Given the description of an element on the screen output the (x, y) to click on. 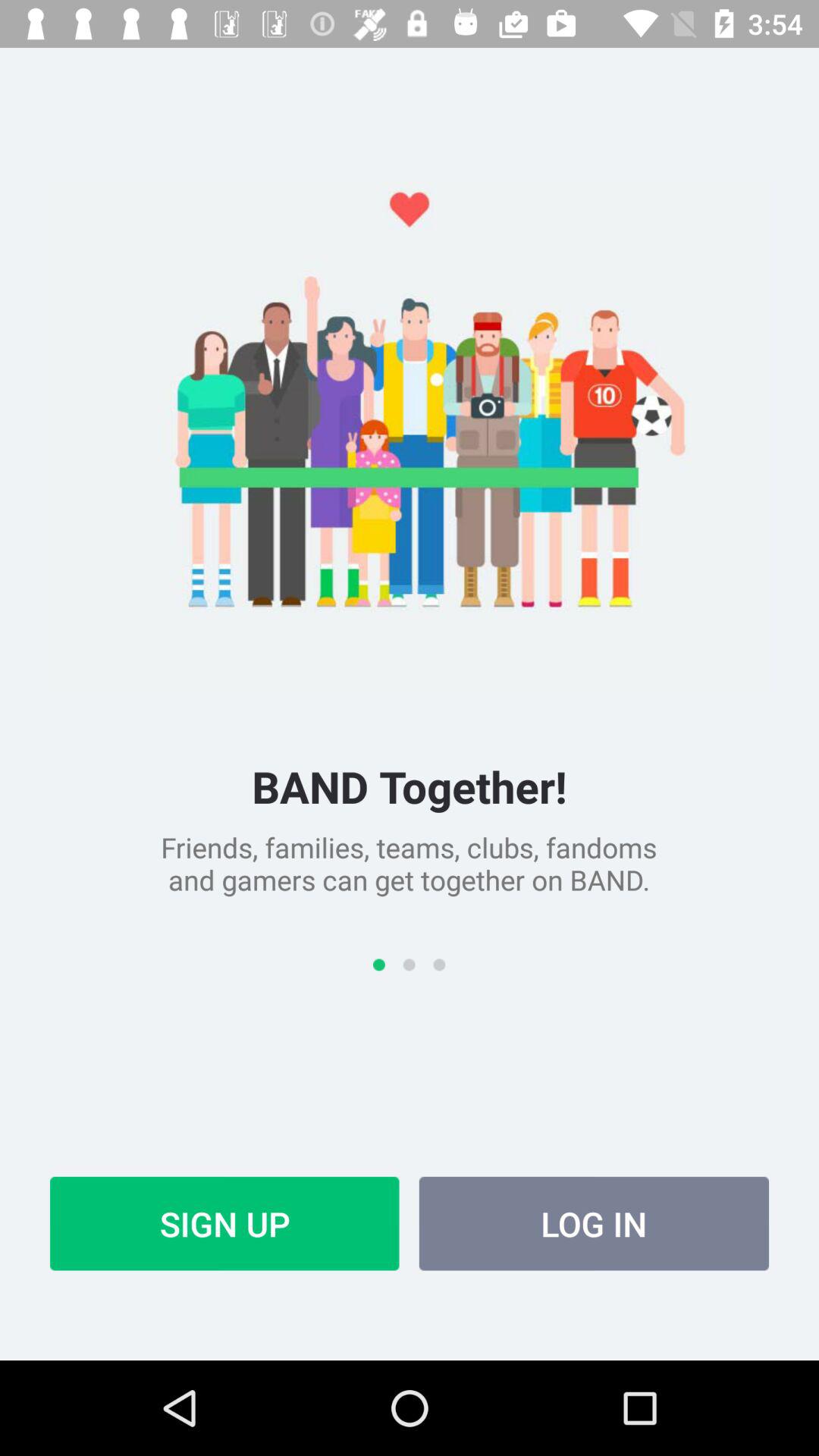
launch the item next to log in (224, 1223)
